Given the description of an element on the screen output the (x, y) to click on. 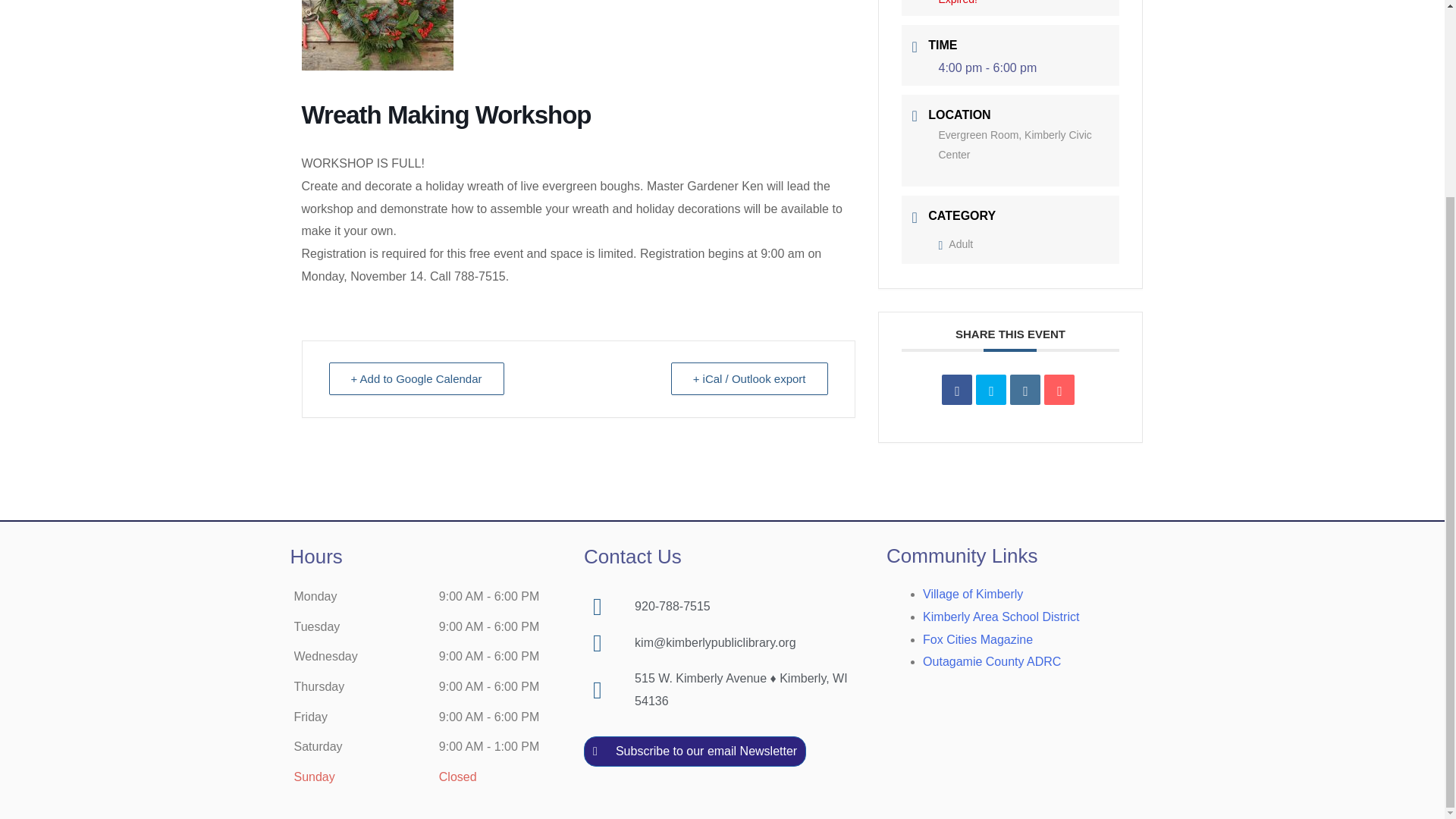
Share on Facebook (957, 389)
Contact Us (632, 556)
Tweet (990, 389)
Email (1058, 389)
Linkedin (1025, 389)
Adult (956, 244)
